Given the description of an element on the screen output the (x, y) to click on. 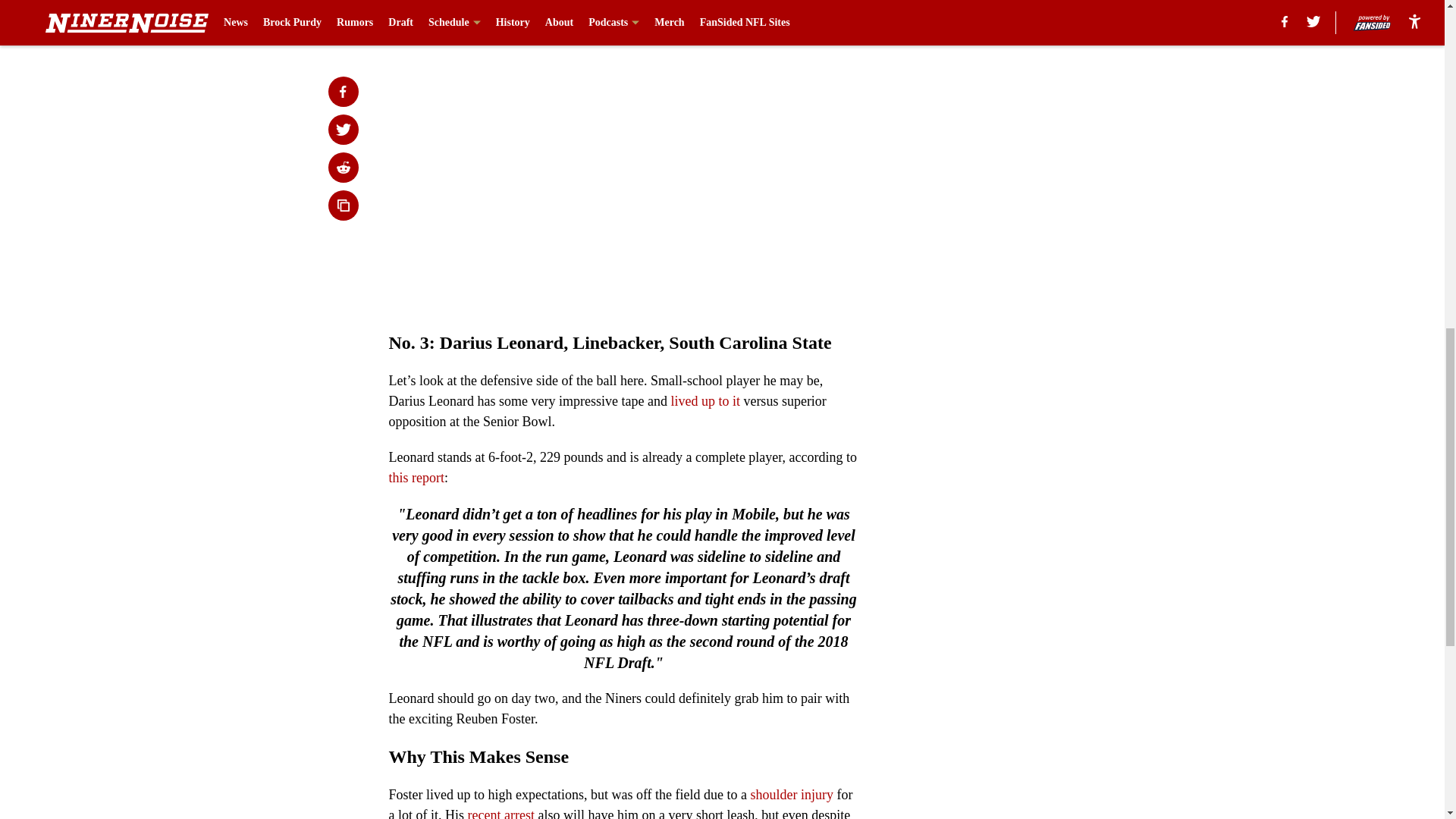
recent arrest (500, 813)
lived up to it (704, 400)
Next (813, 20)
shoulder injury (794, 794)
this report (416, 477)
Prev (433, 20)
